Given the description of an element on the screen output the (x, y) to click on. 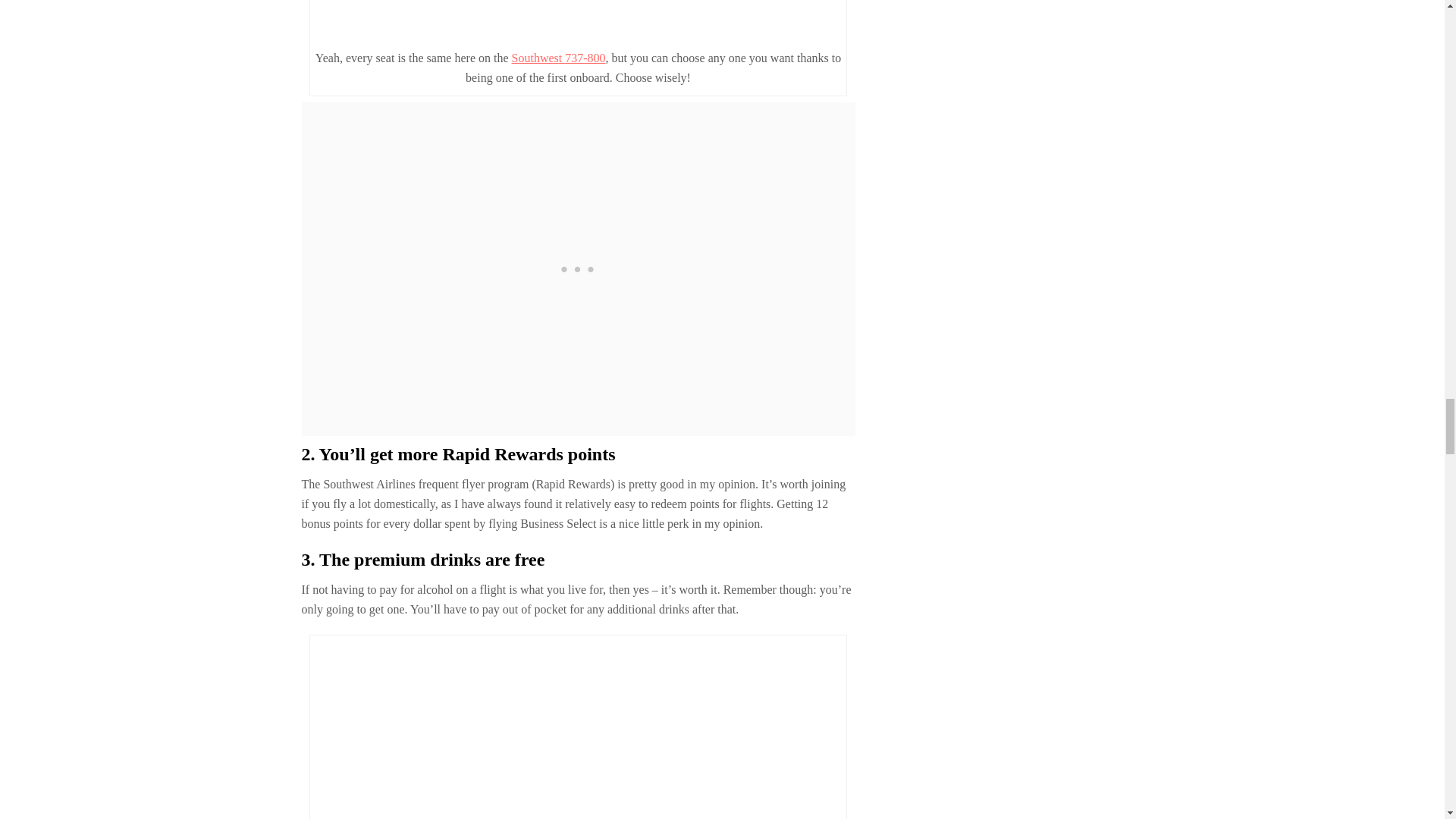
Southwest 737-800 (558, 57)
